Given the description of an element on the screen output the (x, y) to click on. 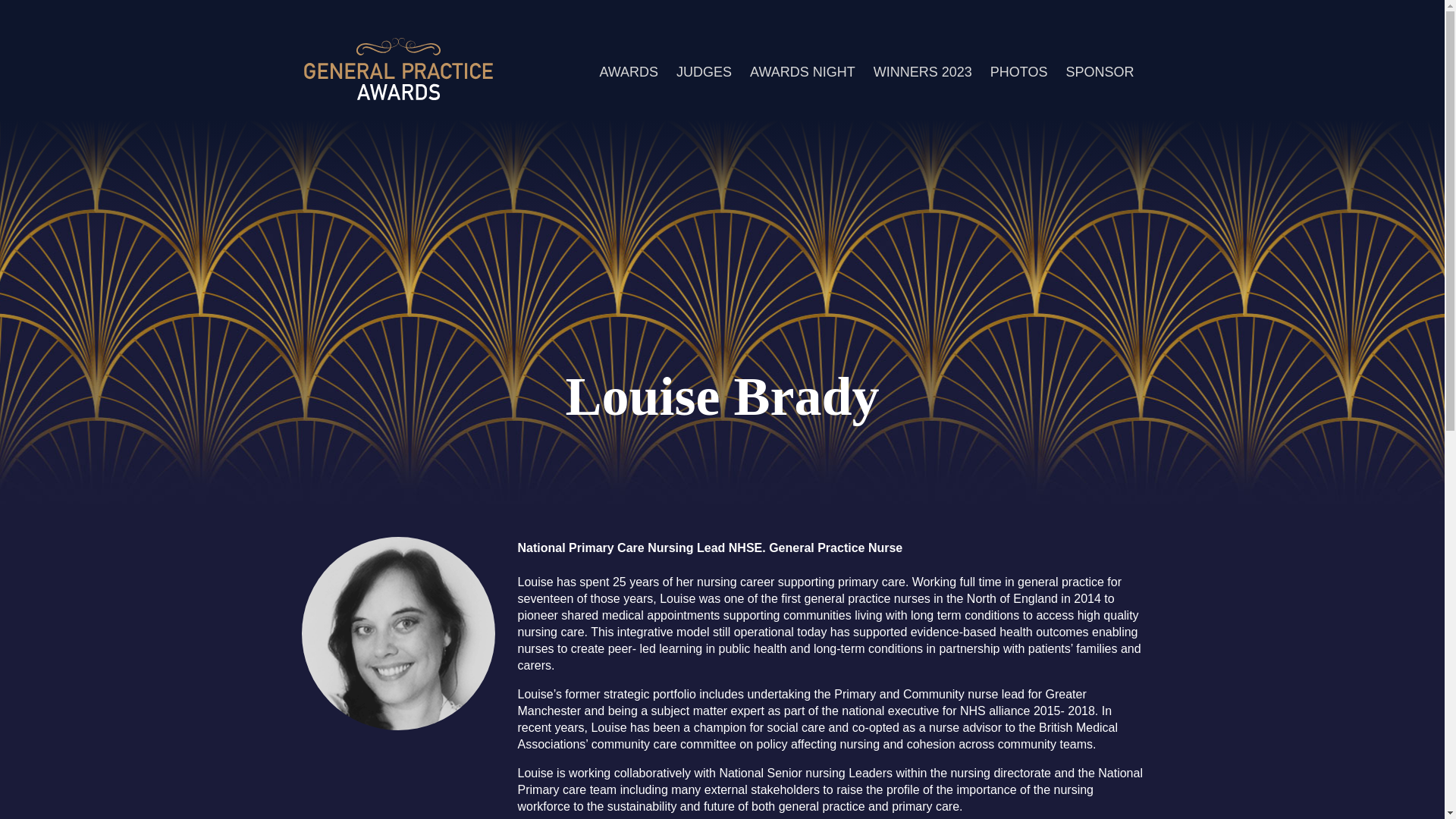
JUDGES (703, 71)
AWARDS NIGHT (802, 71)
SPONSOR (1099, 71)
AWARDS (627, 71)
WINNERS 2023 (922, 71)
PHOTOS (1019, 71)
